Given the description of an element on the screen output the (x, y) to click on. 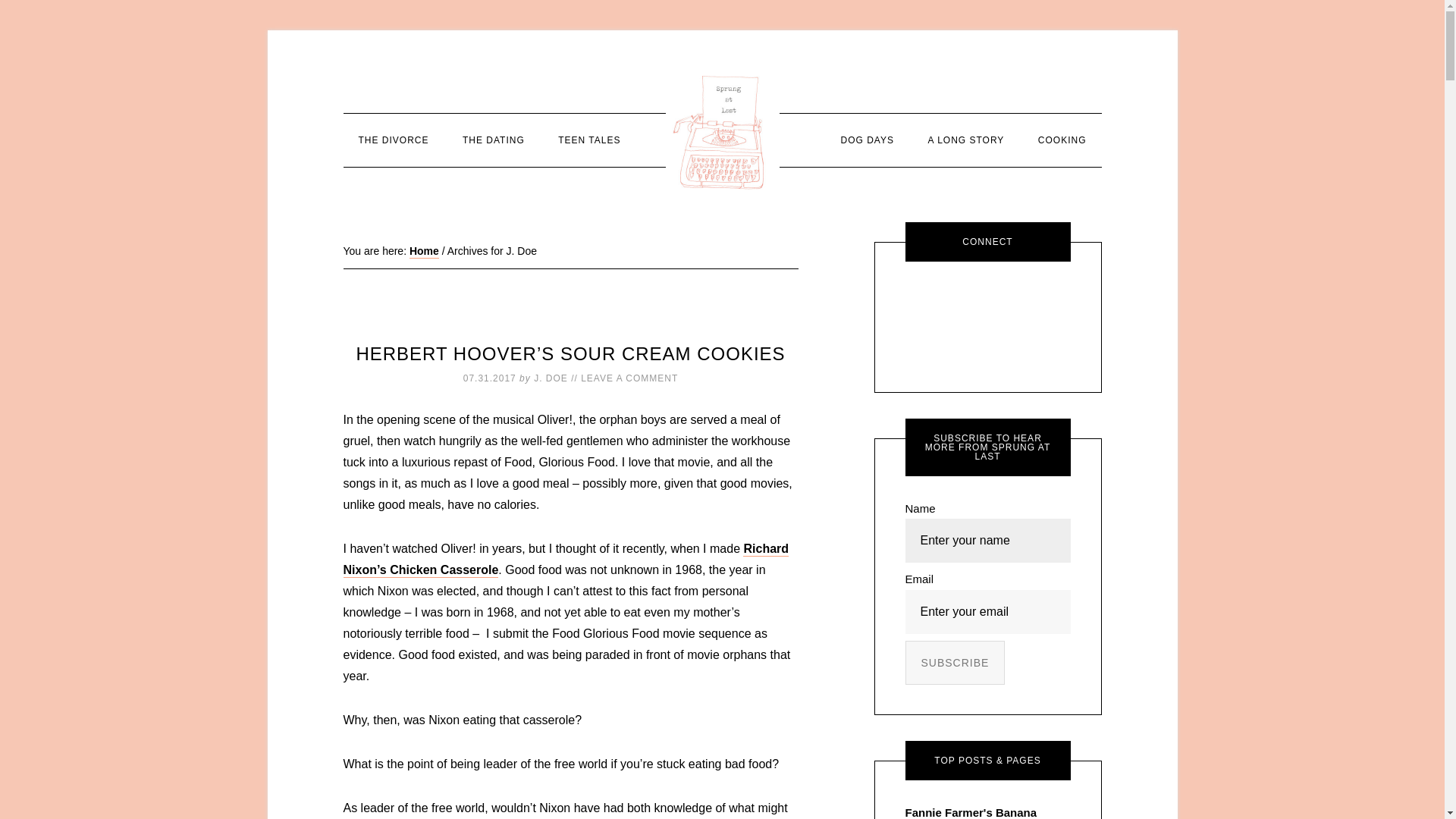
Home (424, 251)
DOG DAYS (866, 140)
Email (945, 301)
Subscribe (955, 661)
A LONG STORY (965, 140)
THE DATING (493, 140)
Facebook (987, 301)
THE DIVORCE (393, 140)
TEEN TALES (588, 140)
Instagram (1029, 301)
